Given the description of an element on the screen output the (x, y) to click on. 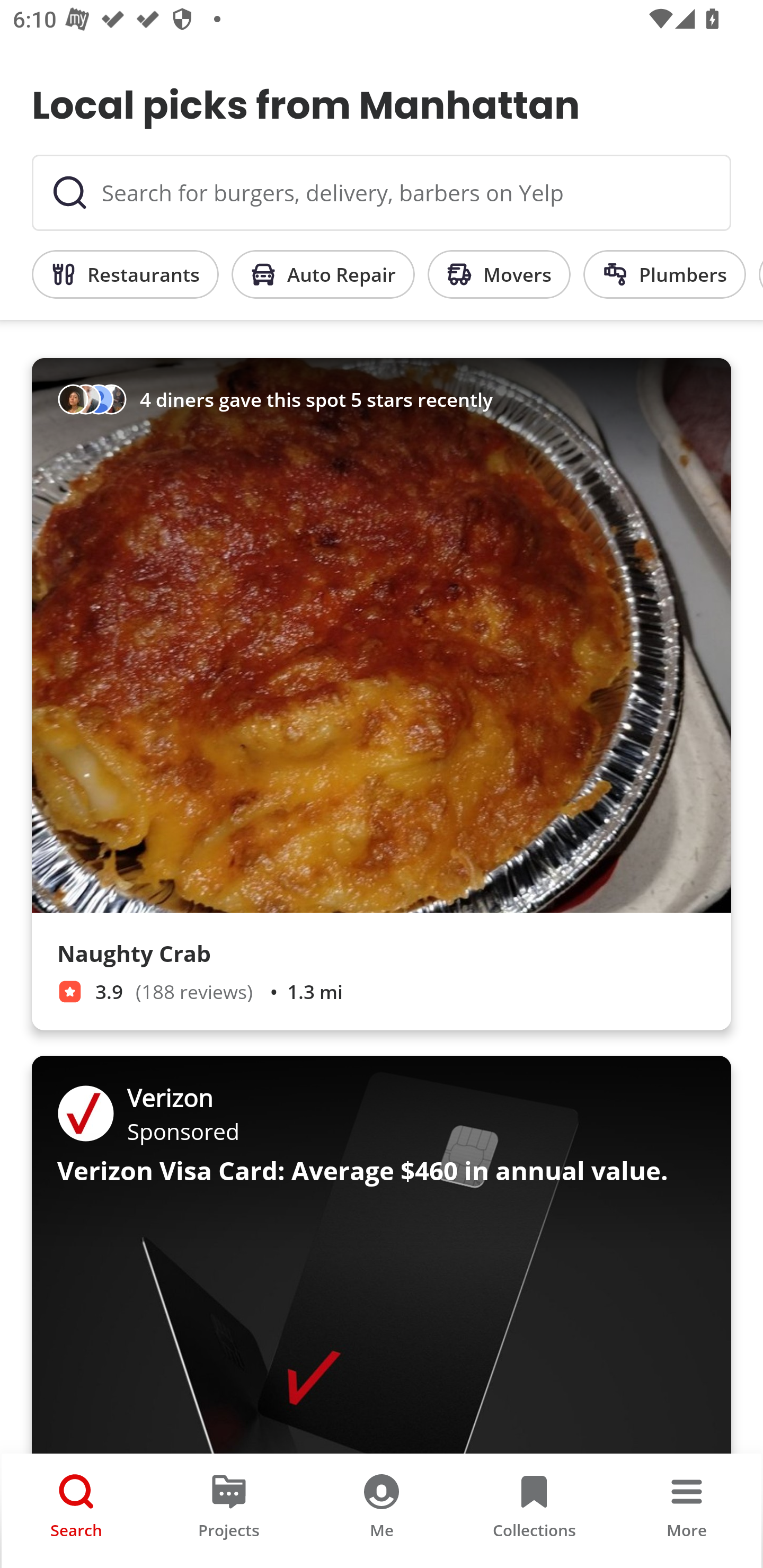
Search for burgers, delivery, barbers on Yelp (381, 192)
